Given the description of an element on the screen output the (x, y) to click on. 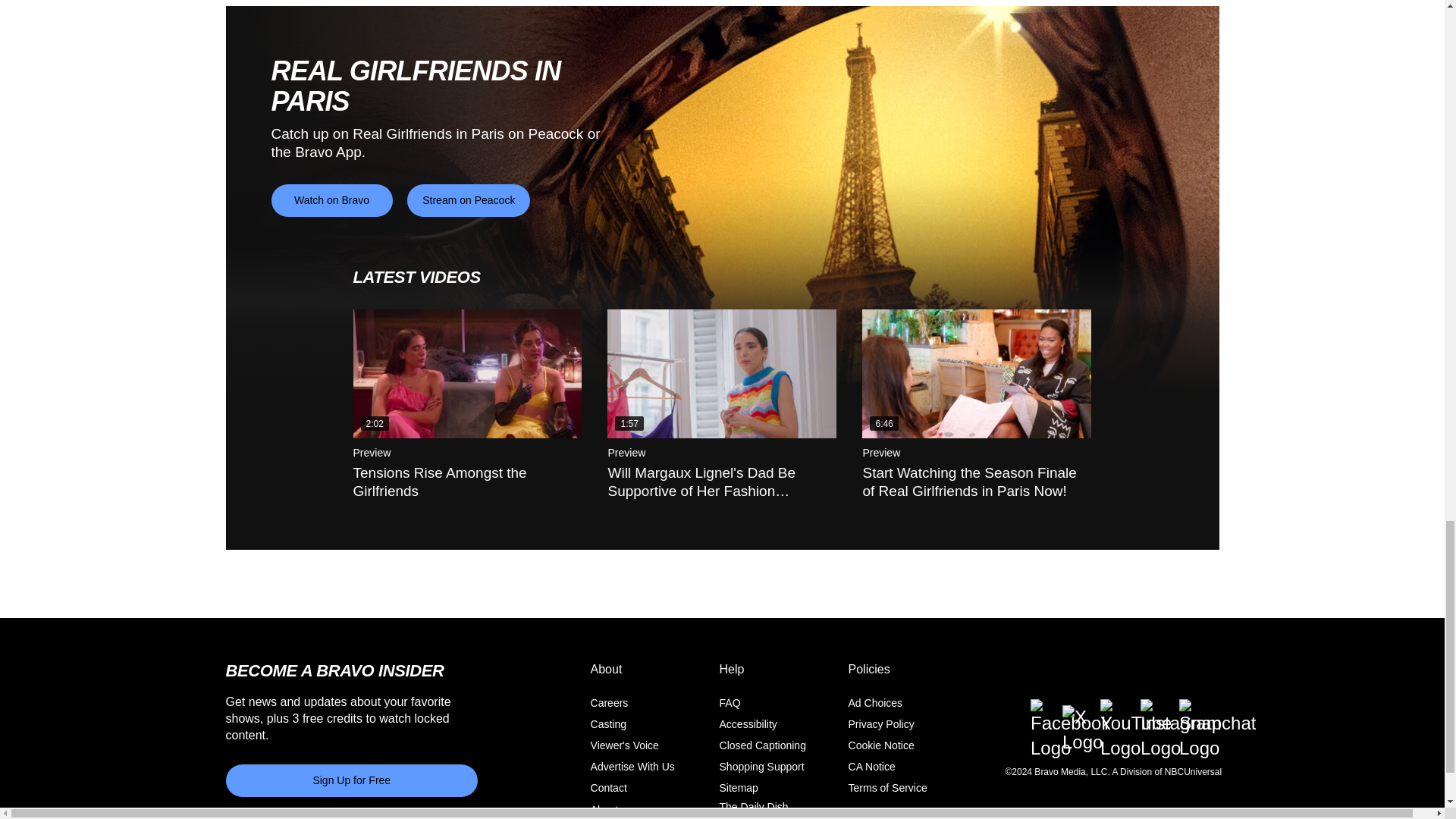
Tensions Rise Amongst the Girlfriends (467, 373)
Advertise With Us (633, 766)
